Given the description of an element on the screen output the (x, y) to click on. 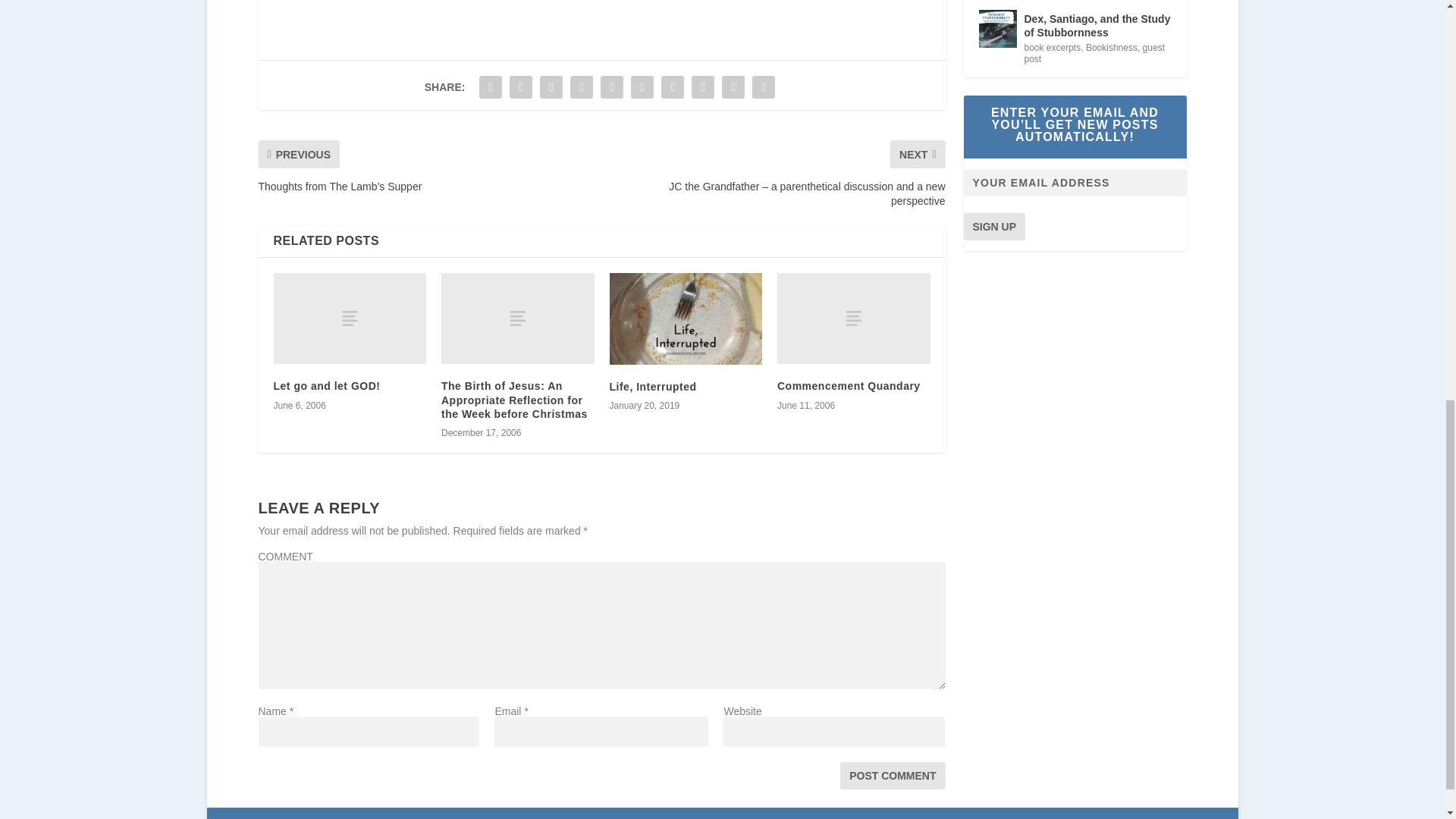
Share "Confession and Exercise" via Twitter (520, 87)
Share "Confession and Exercise" via Email (732, 87)
Let go and let GOD! (326, 386)
Share "Confession and Exercise" via Buffer (672, 87)
Share "Confession and Exercise" via Facebook (490, 87)
Sign up (993, 226)
Post Comment (892, 775)
Share "Confession and Exercise" via LinkedIn (642, 87)
Share "Confession and Exercise" via Stumbleupon (702, 87)
Share "Confession and Exercise" via Pinterest (611, 87)
Share "Confession and Exercise" via Tumblr (581, 87)
